Given the description of an element on the screen output the (x, y) to click on. 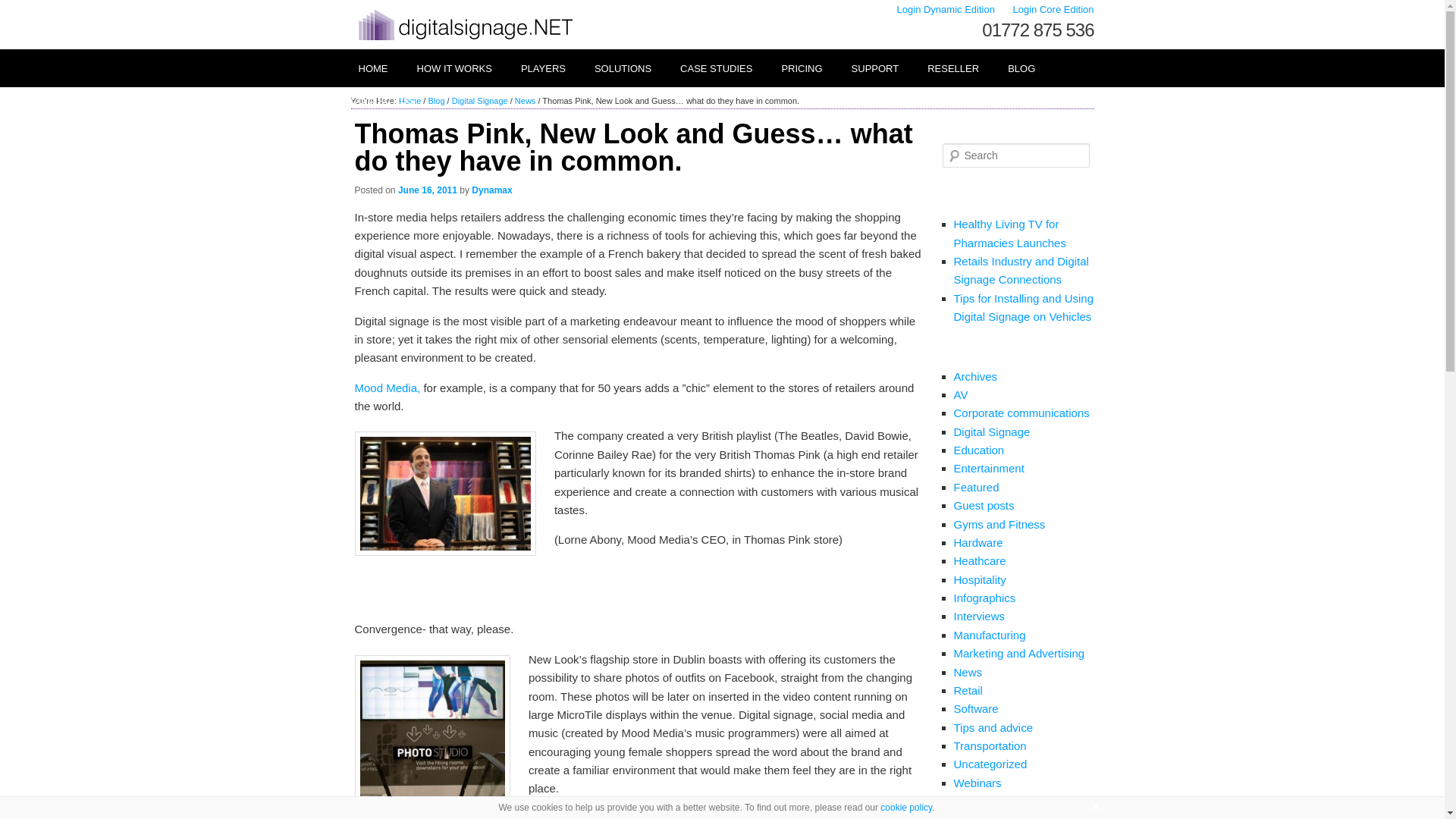
Dynamax (491, 190)
Cookie Policy (905, 807)
View all posts by Dynamax (491, 190)
Blog (436, 100)
Login Core Edition (1053, 9)
RESELLER (952, 68)
New-Look (433, 737)
SUPPORT (873, 68)
HOW IT WORKS (453, 68)
CASE STUDIES (715, 68)
